Given the description of an element on the screen output the (x, y) to click on. 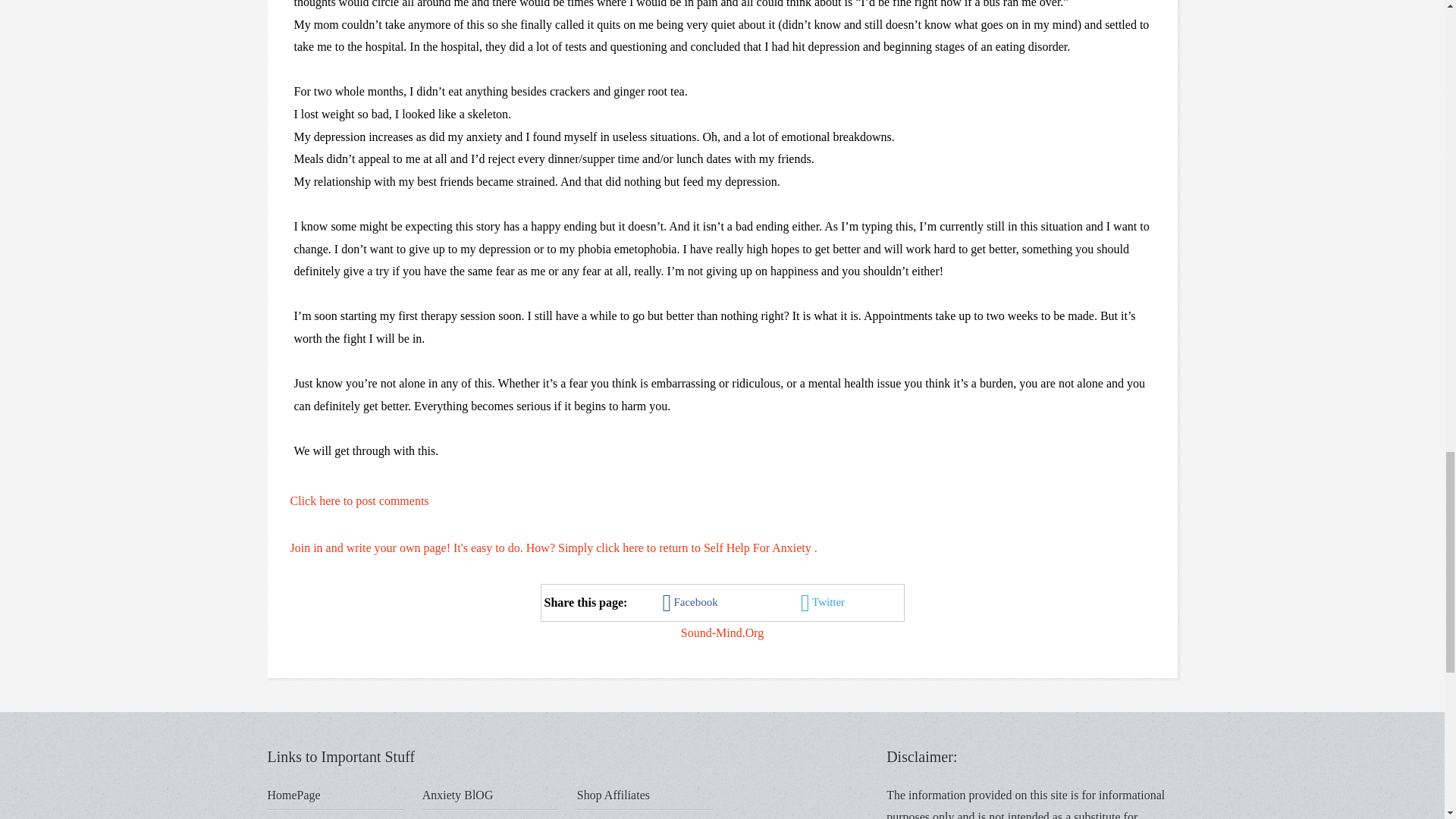
Sound-Mind.Org (722, 632)
Link Exchange (459, 818)
HomePage (293, 794)
Anxiety Resources (622, 818)
Click here to post comments (358, 500)
Anxiety BlOG (457, 794)
Facebook (691, 600)
Contact Us (293, 818)
Twitter (824, 600)
